Given the description of an element on the screen output the (x, y) to click on. 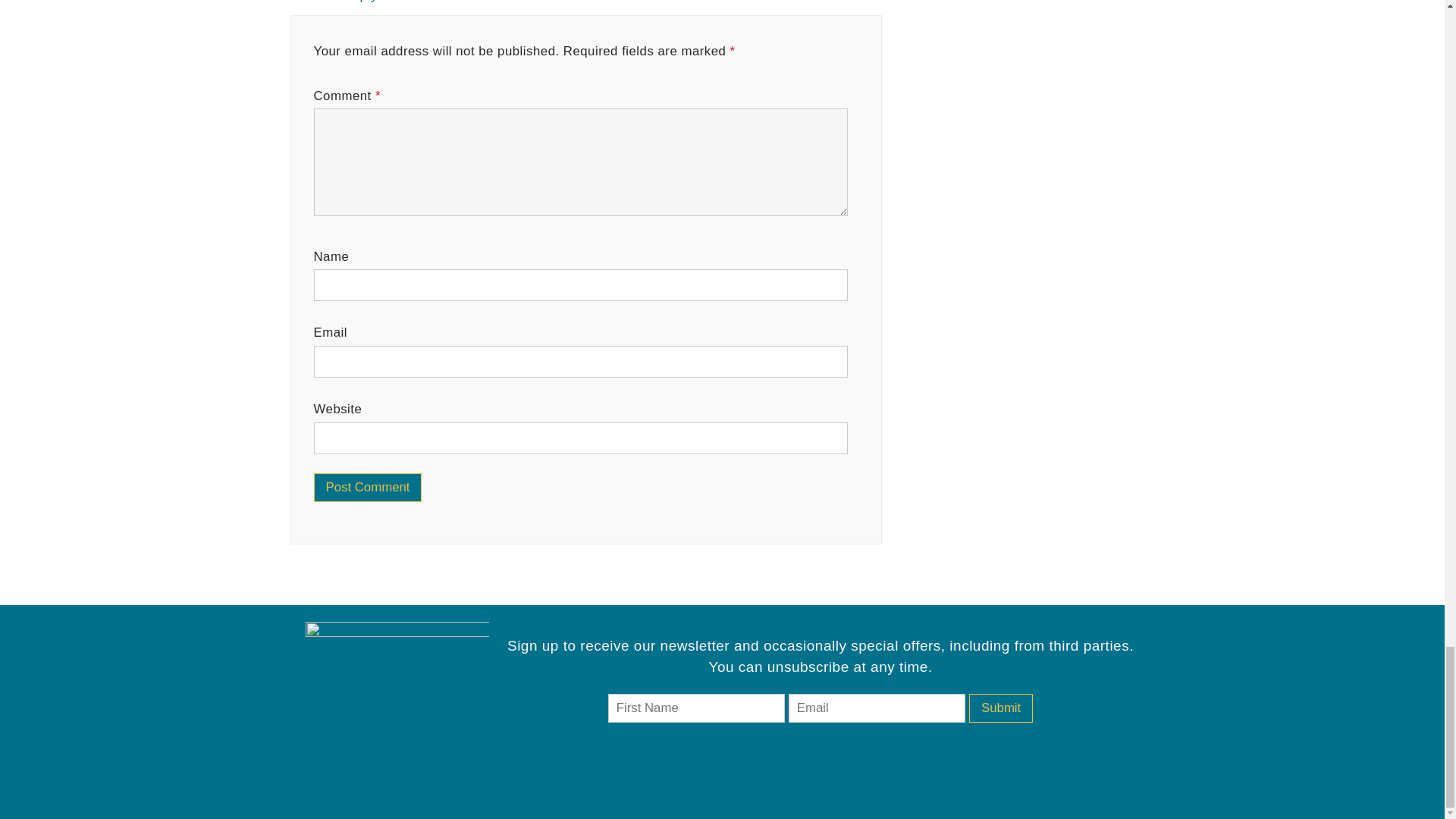
Post Comment (368, 487)
